Given the description of an element on the screen output the (x, y) to click on. 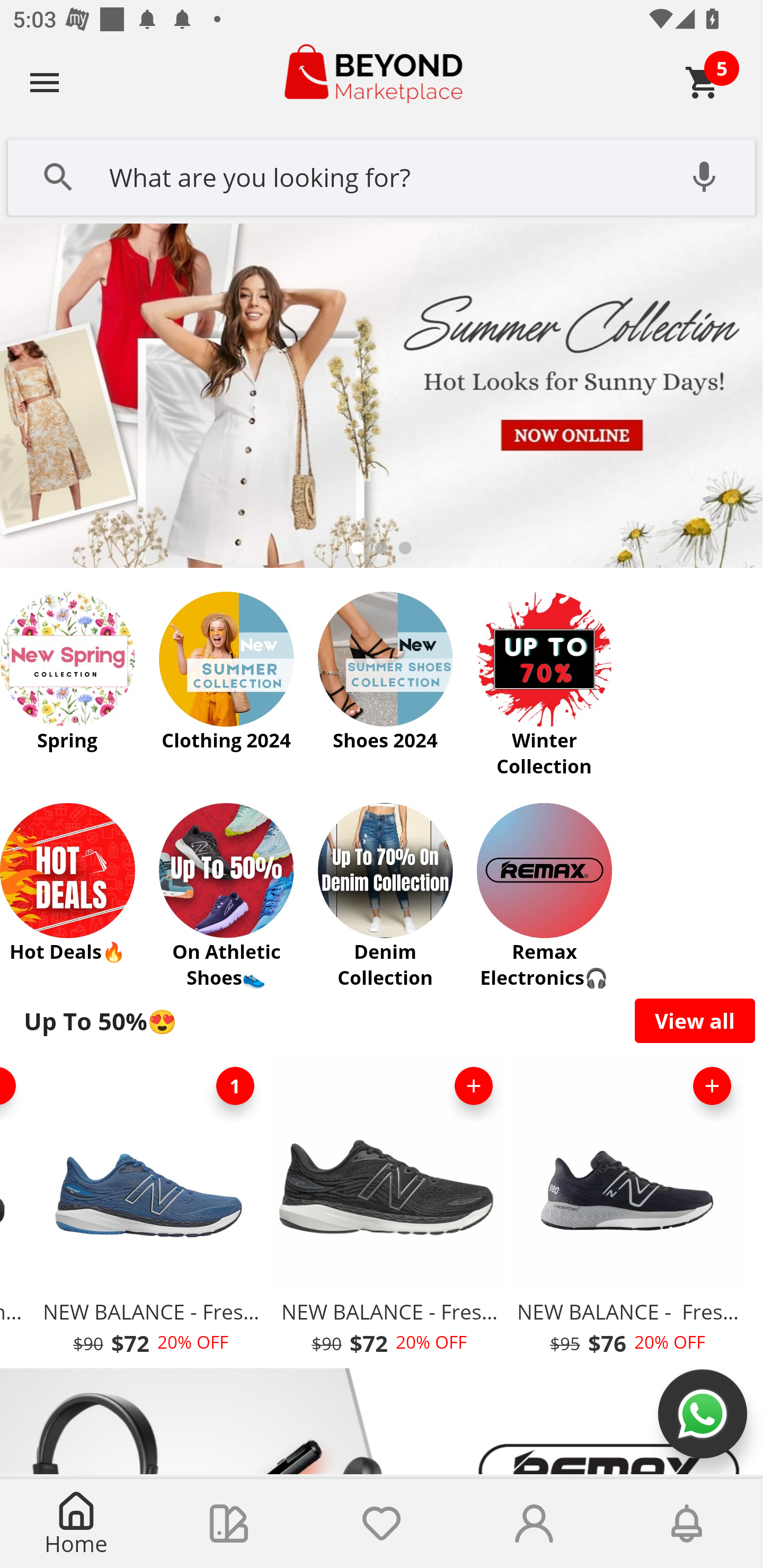
Navigate up (44, 82)
What are you looking for? (381, 175)
View all (694, 1020)
1 (234, 1085)
NEW BALANCE -  Fresh Foam X 880 $95 $76 20% OFF (627, 1209)
Collections (228, 1523)
Wishlist (381, 1523)
Account (533, 1523)
Notifications (686, 1523)
